Given the description of an element on the screen output the (x, y) to click on. 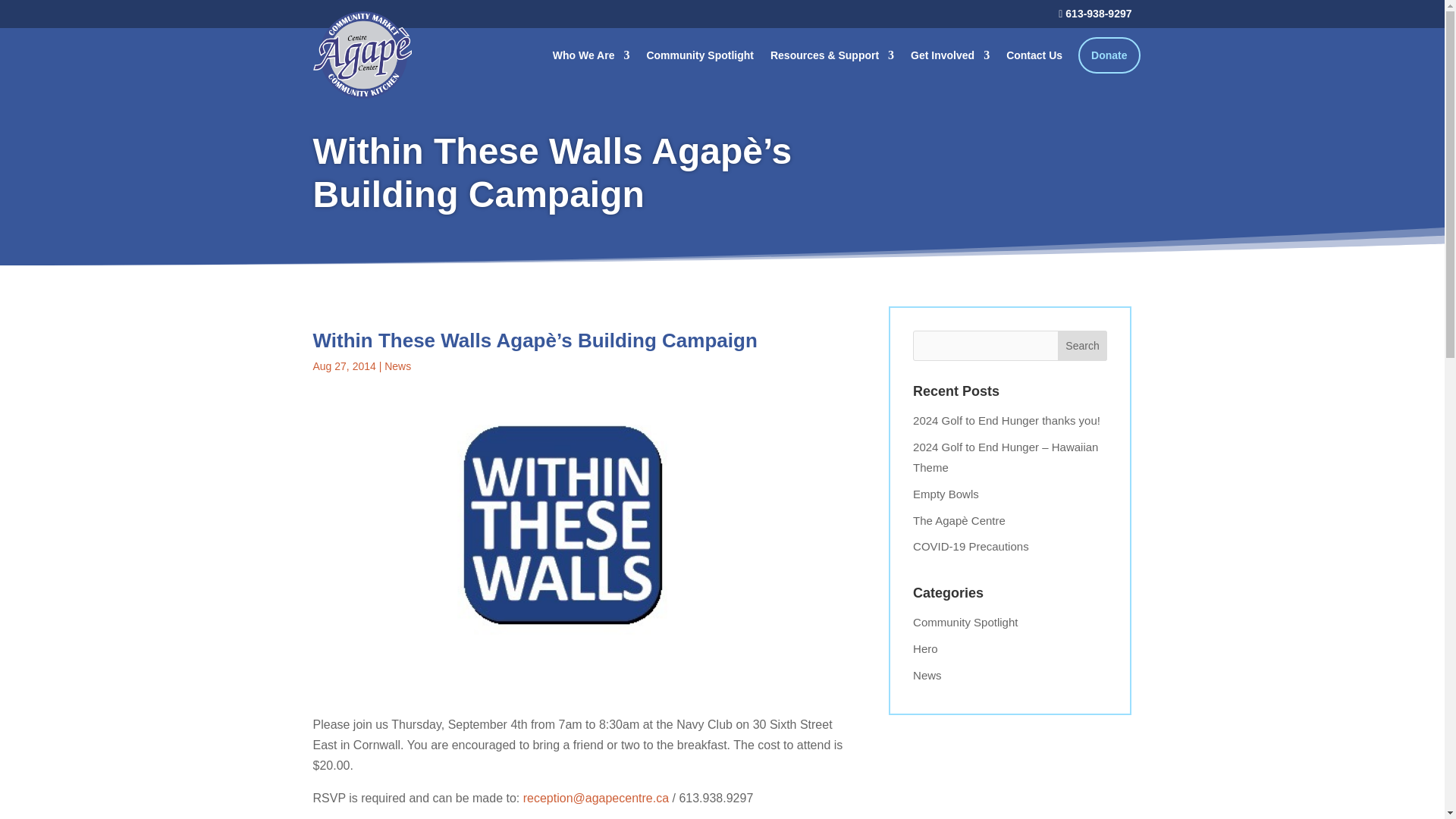
Search (1083, 345)
Get Involved (950, 54)
2024 Golf to End Hunger thanks you! (1006, 420)
News (927, 675)
Community Spotlight (700, 54)
COVID-19 Precautions (970, 545)
Donate (1109, 54)
Empty Bowls (945, 493)
Hero (924, 648)
